Given the description of an element on the screen output the (x, y) to click on. 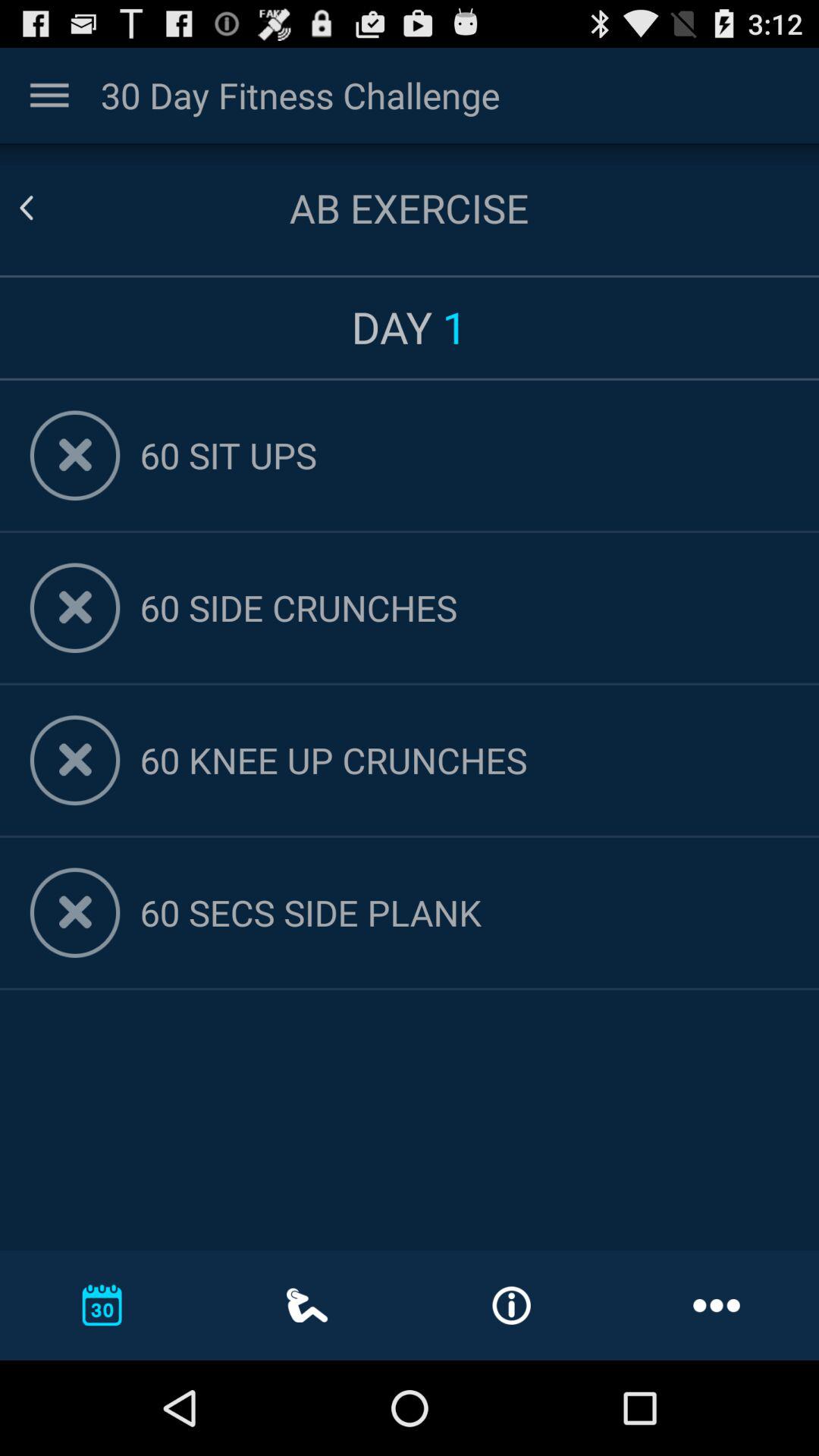
click the item above the 60 secs side item (463, 759)
